Given the description of an element on the screen output the (x, y) to click on. 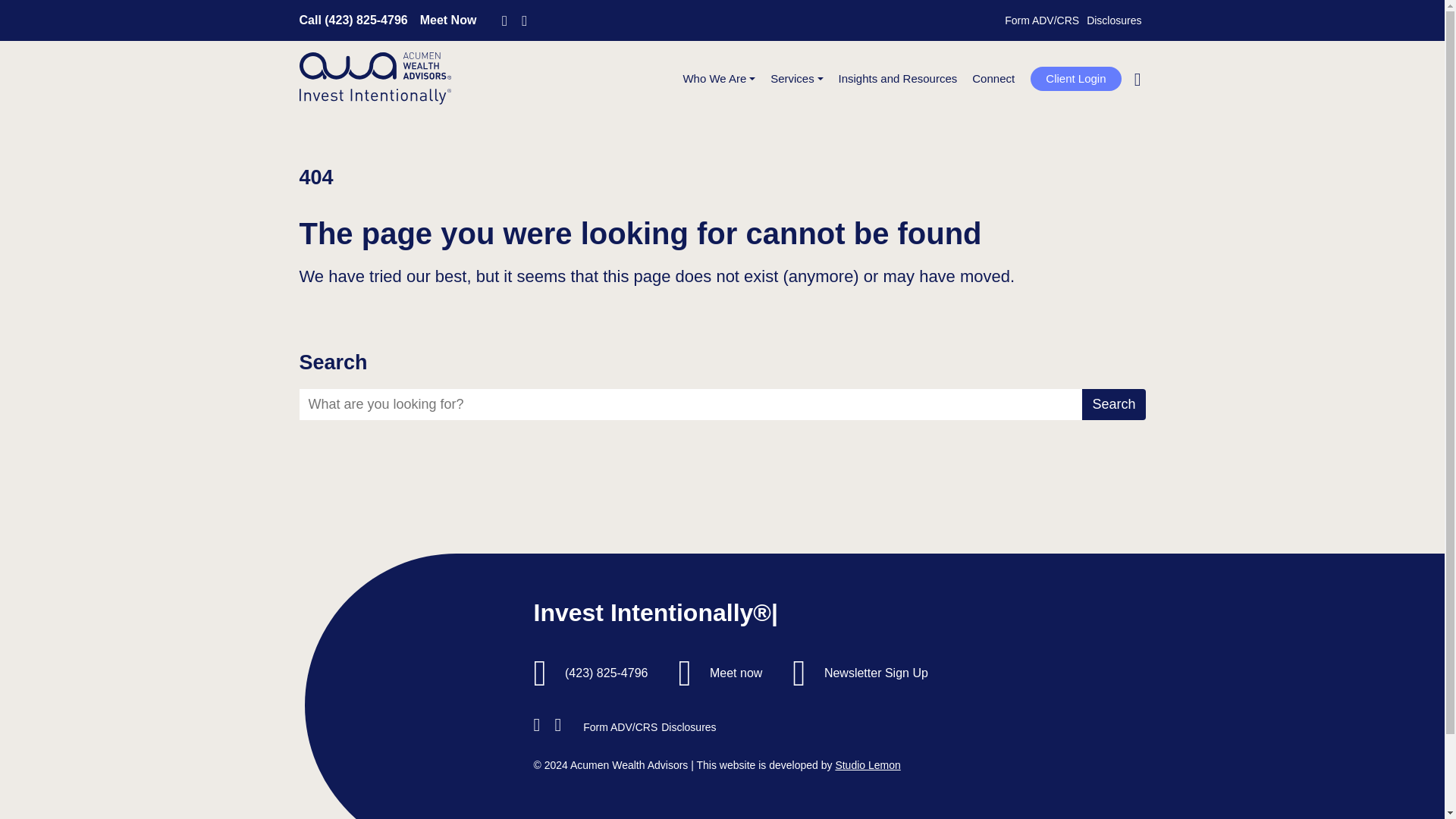
Insights and Resources (898, 78)
Who We Are (718, 78)
Acumen Wealth Advisors (373, 78)
Disclosures (1113, 20)
Meet Now (448, 19)
Meet now (735, 673)
Search (1112, 404)
Connect (992, 78)
Call Acumen Wealth Advisors (352, 19)
Newsletter Sign Up (876, 673)
Meet Now with Acumen Wealth Advisors (448, 19)
Search (1112, 84)
Services (795, 78)
Client Login (1075, 78)
